Given the description of an element on the screen output the (x, y) to click on. 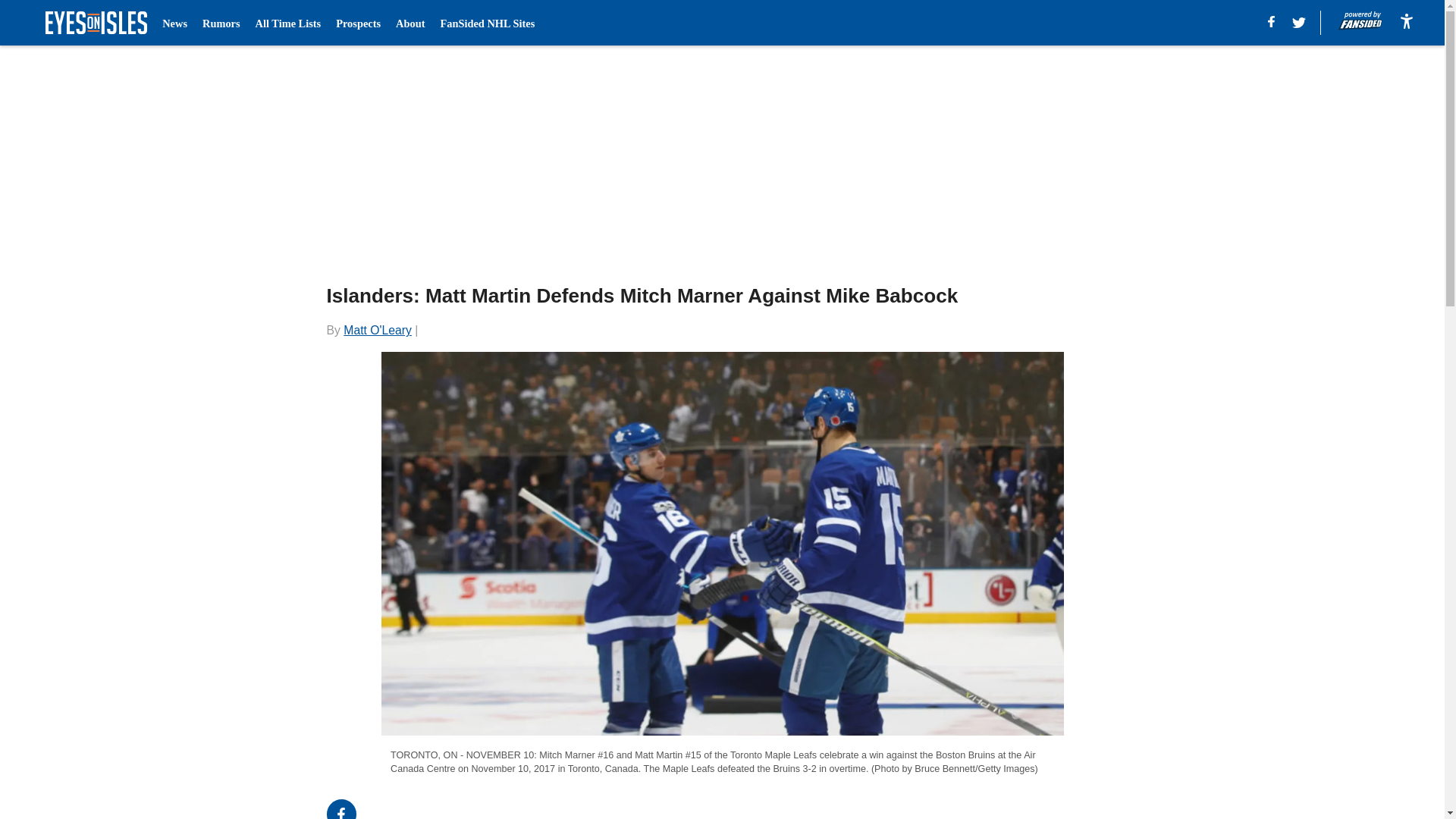
About (410, 23)
Rumors (221, 23)
News (174, 23)
Prospects (358, 23)
All Time Lists (288, 23)
FanSided NHL Sites (486, 23)
Matt O'Leary (377, 329)
